Given the description of an element on the screen output the (x, y) to click on. 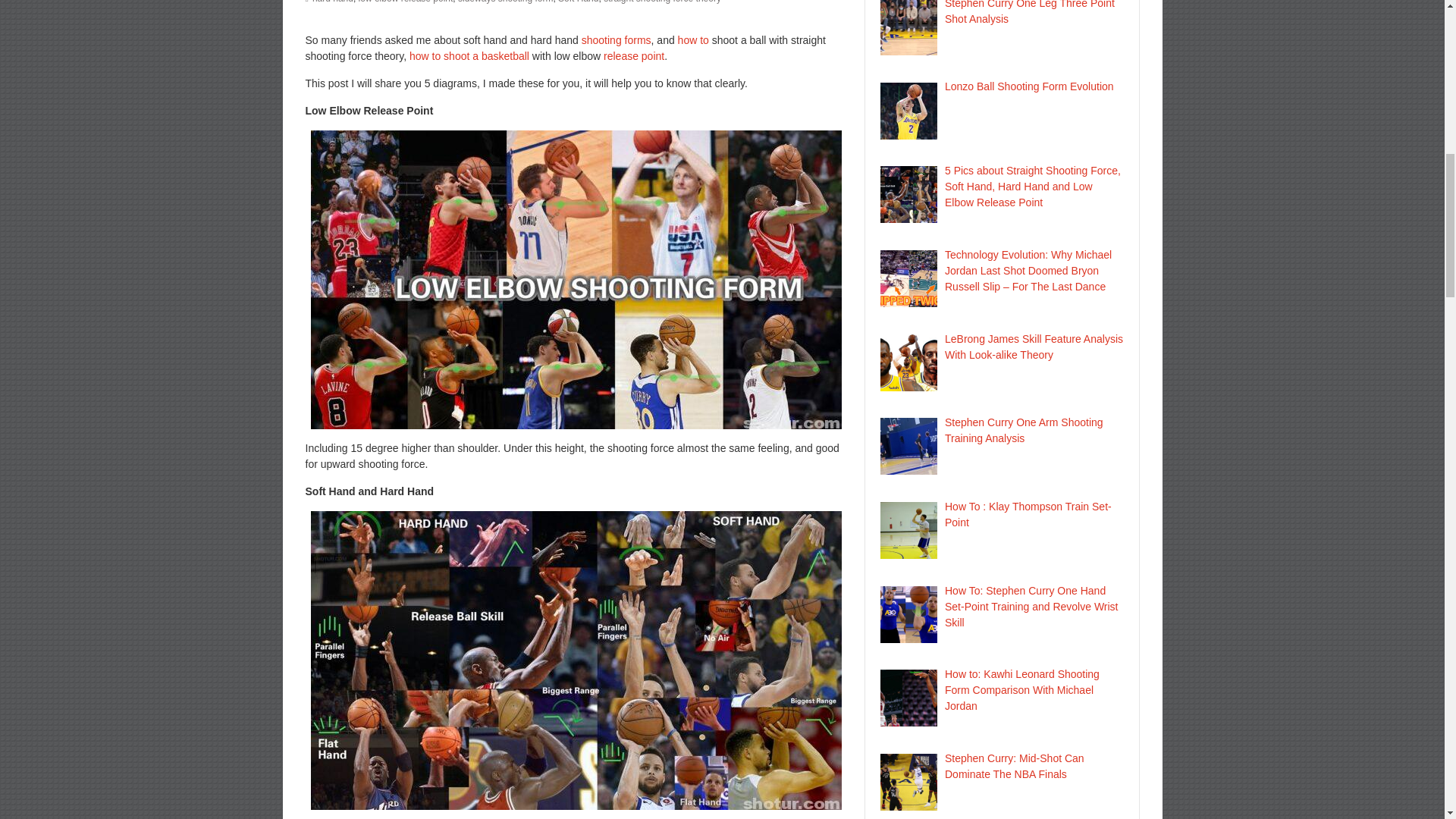
low elbow release point (405, 2)
Posts tagged with How to (693, 39)
Posts tagged with Shooting forms (615, 39)
Posts tagged with release point (633, 55)
Posts tagged with how to shoot a basketball (469, 55)
sideways shooting form (505, 2)
straight shooting force theory (662, 2)
hard hand (333, 2)
Soft Hand (577, 2)
